Given the description of an element on the screen output the (x, y) to click on. 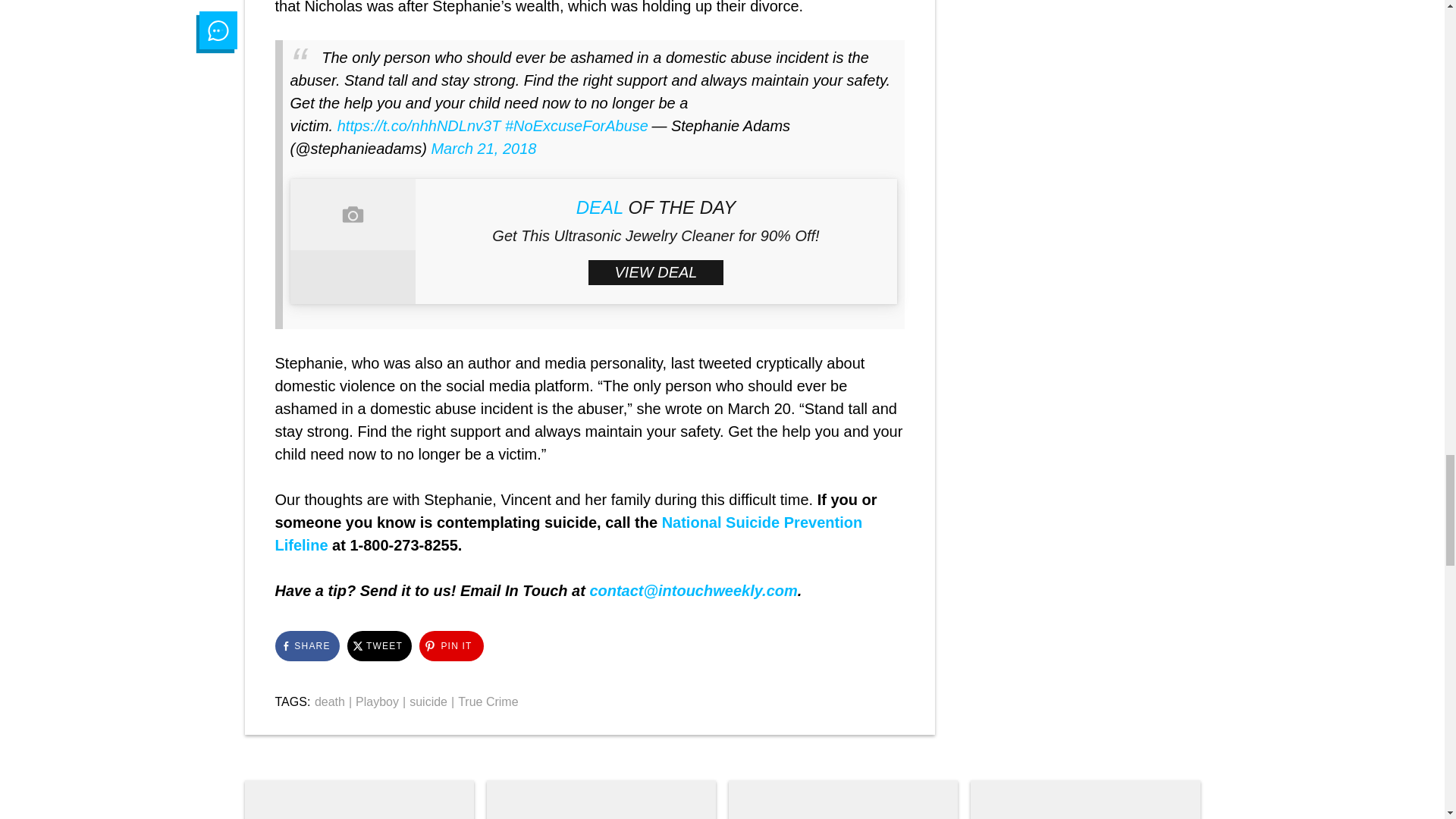
Click to share on Twitter (379, 645)
Click to share on Facebook (307, 645)
Click to share on Pinterest (451, 645)
